Given the description of an element on the screen output the (x, y) to click on. 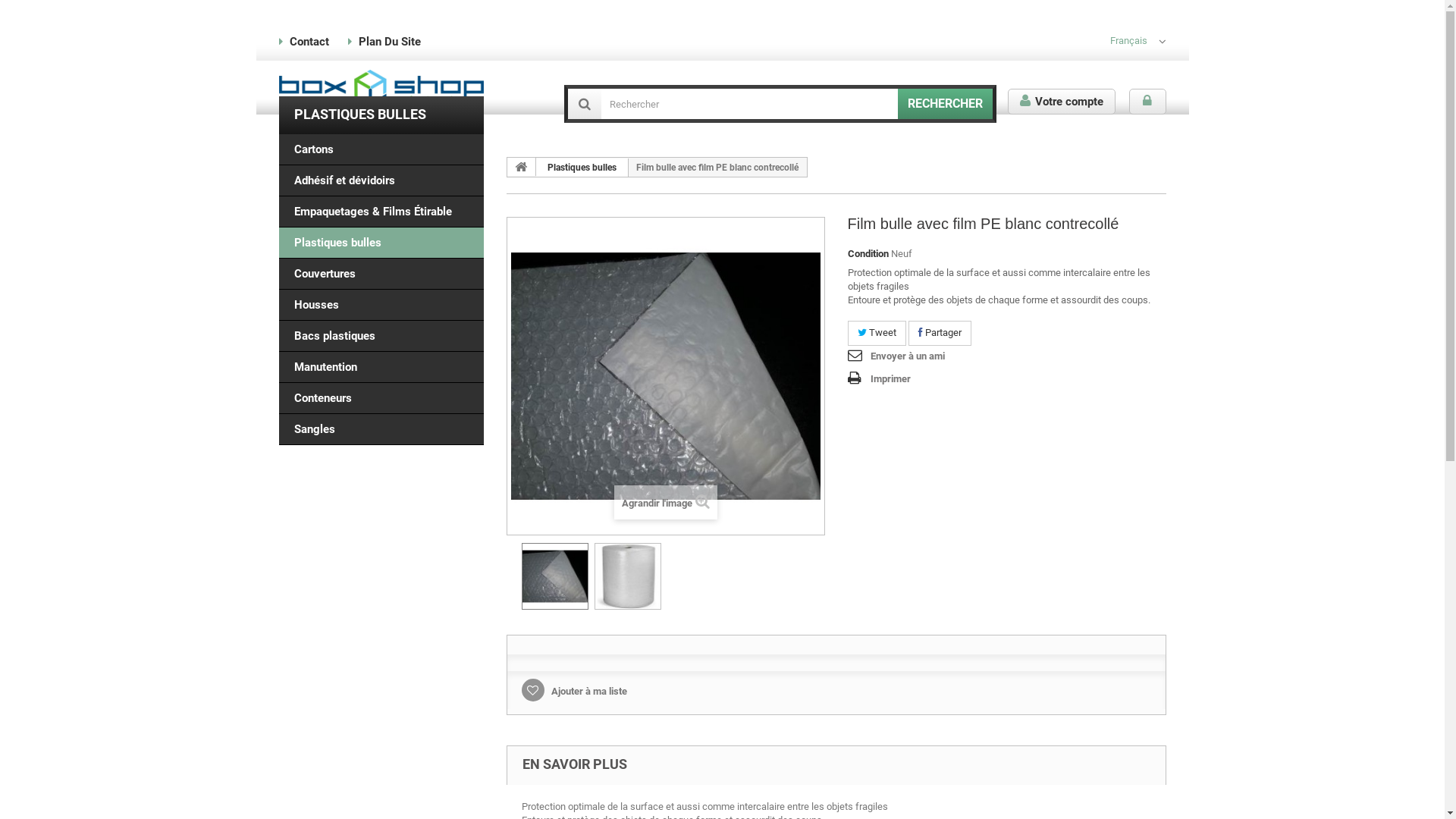
Conteneurs Element type: text (381, 398)
RECHERCHER Element type: text (944, 103)
Boxshop Emballage Element type: hover (381, 89)
Bacs plastiques Element type: text (381, 335)
Tweet Element type: text (876, 332)
Plastiques bulles Element type: text (581, 167)
Plastiques bulles Element type: text (381, 242)
Plan Du Site Element type: text (388, 41)
Contact Element type: text (309, 41)
Identifiez-vous Element type: hover (1146, 101)
Housses Element type: text (381, 304)
Sangles Element type: text (381, 429)
Manutention Element type: text (381, 366)
Imprimer Element type: text (878, 378)
Votre compte Element type: text (1060, 101)
Couvertures Element type: text (381, 273)
Partager Element type: text (939, 332)
Cartons Element type: text (381, 149)
